Given the description of an element on the screen output the (x, y) to click on. 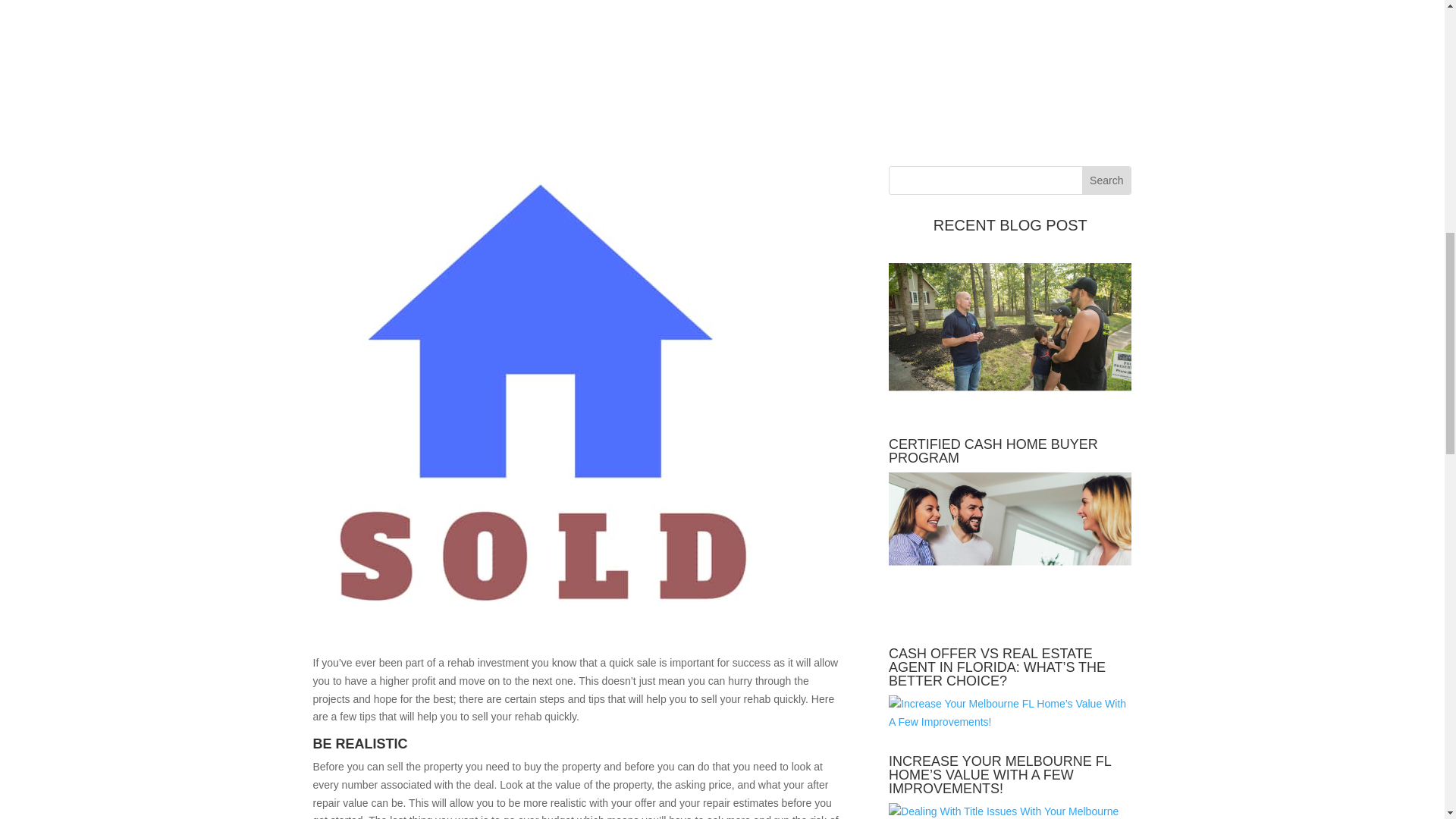
Search (1106, 180)
CERTIFIED CASH HOME BUYER PROGRAM (992, 451)
Search (1106, 180)
Search (1106, 180)
